Given the description of an element on the screen output the (x, y) to click on. 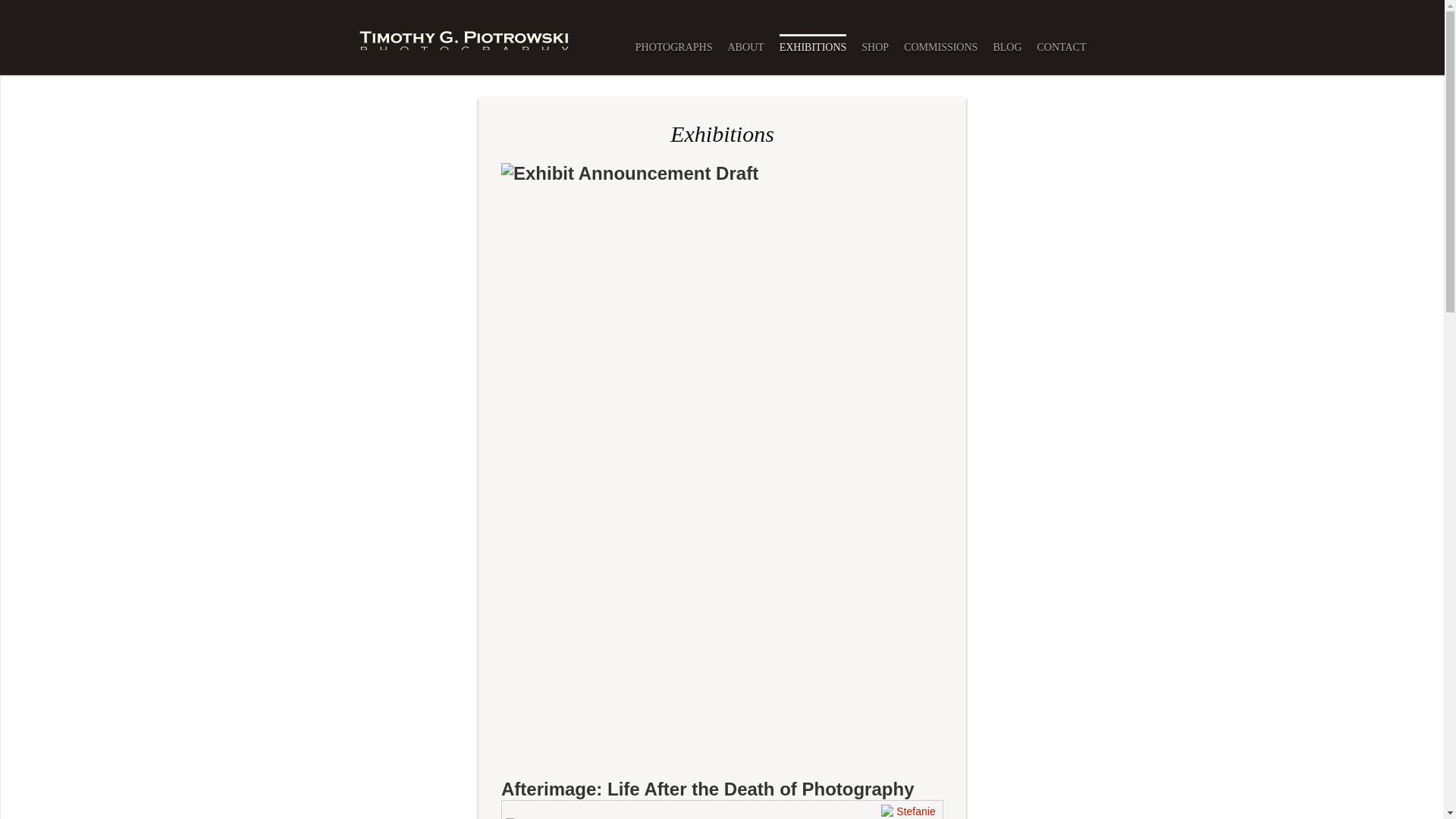
COMMISSIONS (940, 45)
EXHIBITIONS (812, 45)
CONTACT (1061, 45)
PHOTOGRAPHS (673, 45)
BLOG (1007, 45)
SHOP (874, 45)
ABOUT (744, 45)
